Given the description of an element on the screen output the (x, y) to click on. 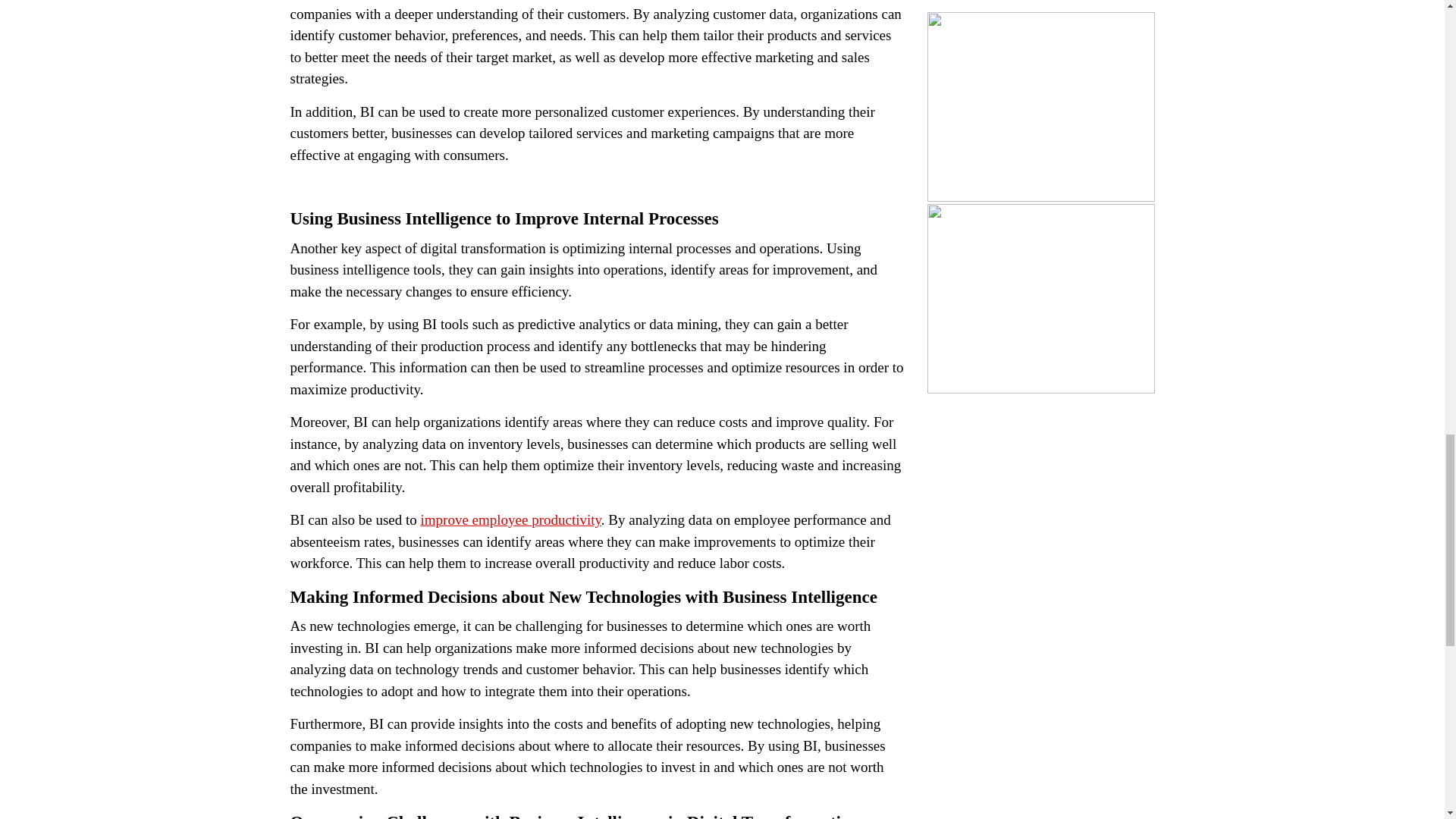
improve employee productivity (510, 519)
